Given the description of an element on the screen output the (x, y) to click on. 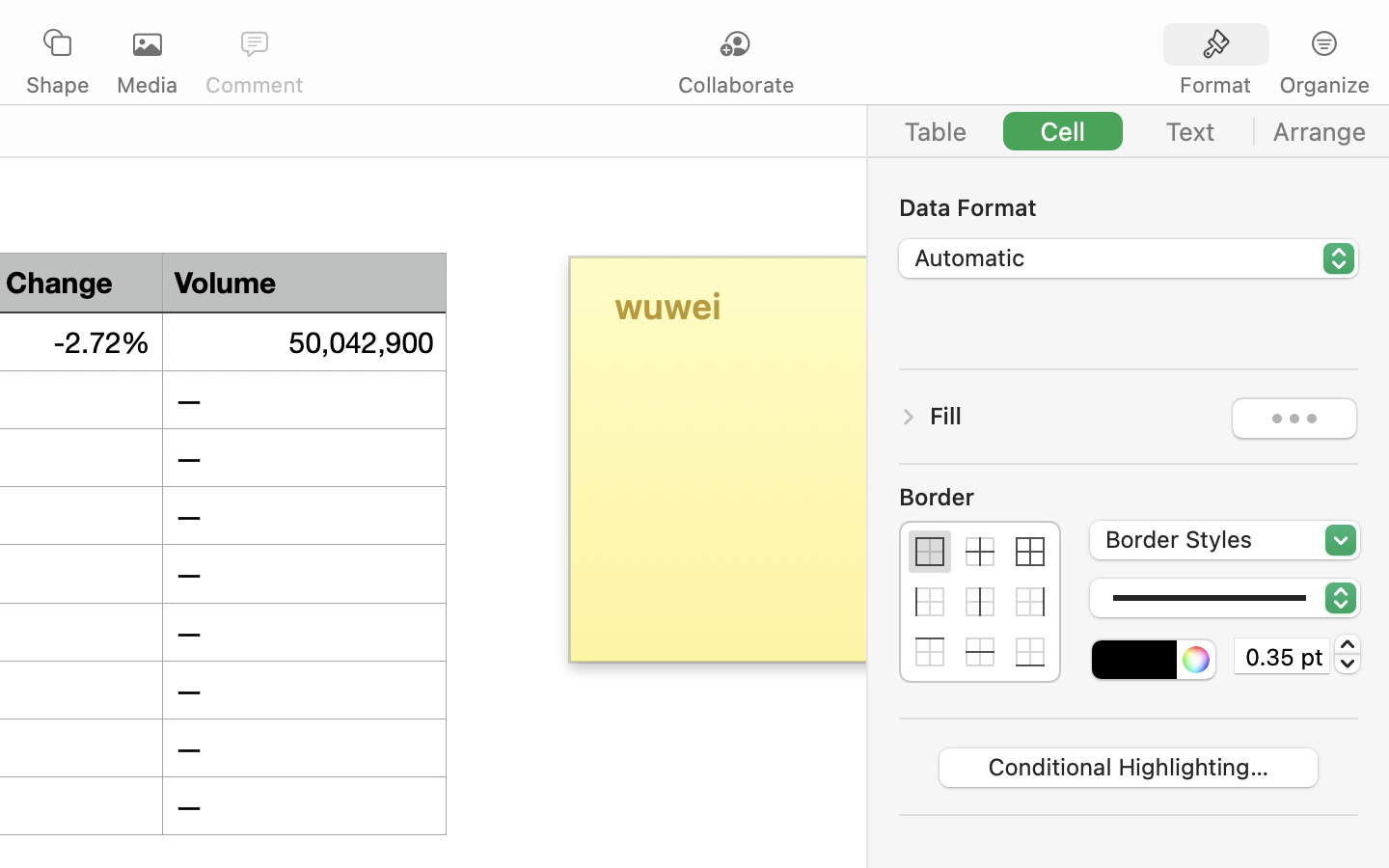
0.3499999940395355 Element type: AXIncrementor (1347, 653)
Fill Element type: AXStaticText (946, 415)
Media Element type: AXStaticText (146, 84)
